Given the description of an element on the screen output the (x, y) to click on. 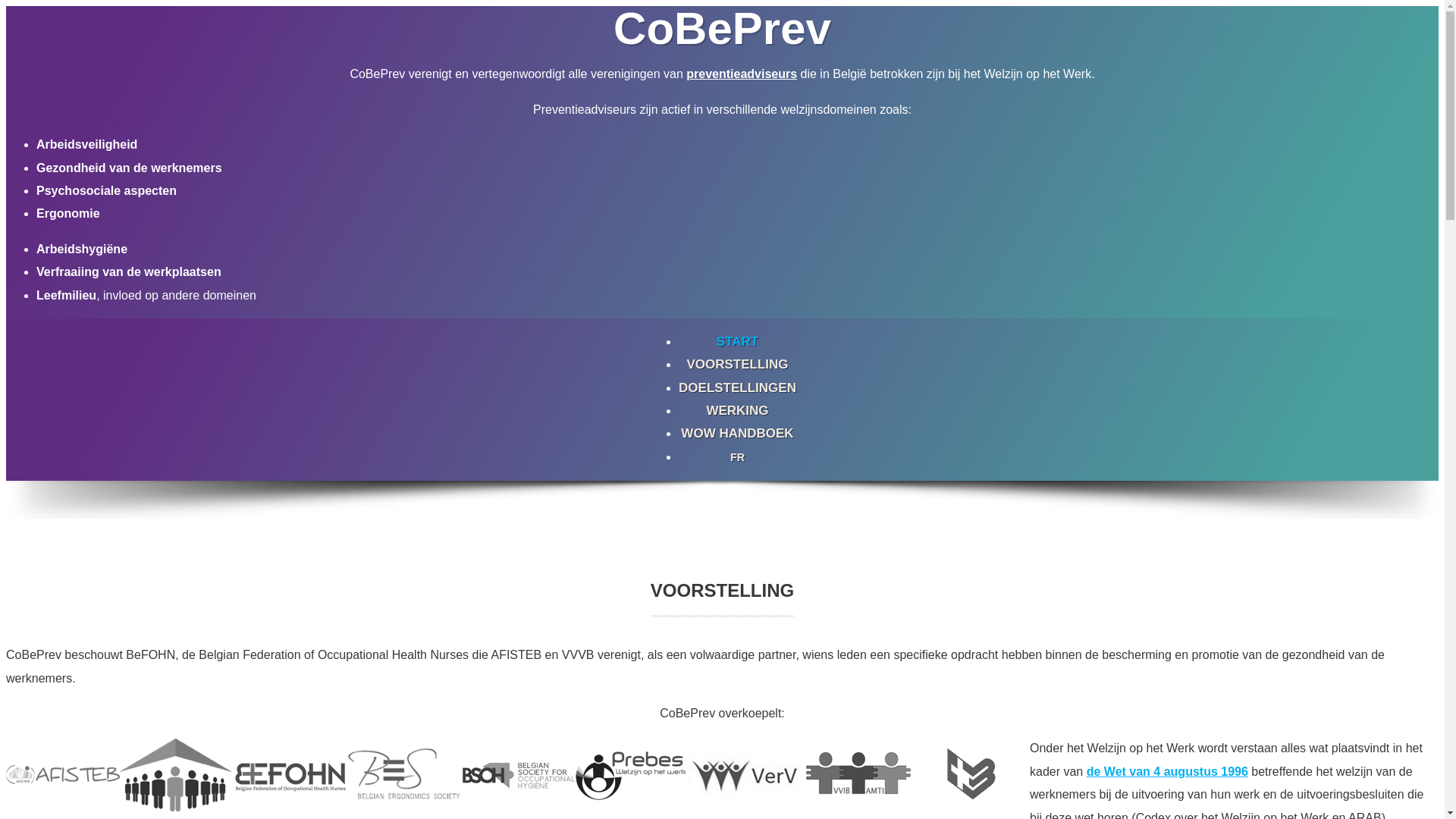
preventieadviseurs Element type: text (741, 73)
VOORSTELLING Element type: text (736, 364)
DOELSTELLINGEN Element type: text (737, 387)
WOW HANDBOEK Element type: text (736, 433)
FR Element type: text (737, 456)
START Element type: text (737, 341)
de Wet van 4 augustus 1996 Element type: text (1167, 771)
WERKING Element type: text (737, 410)
